Given the description of an element on the screen output the (x, y) to click on. 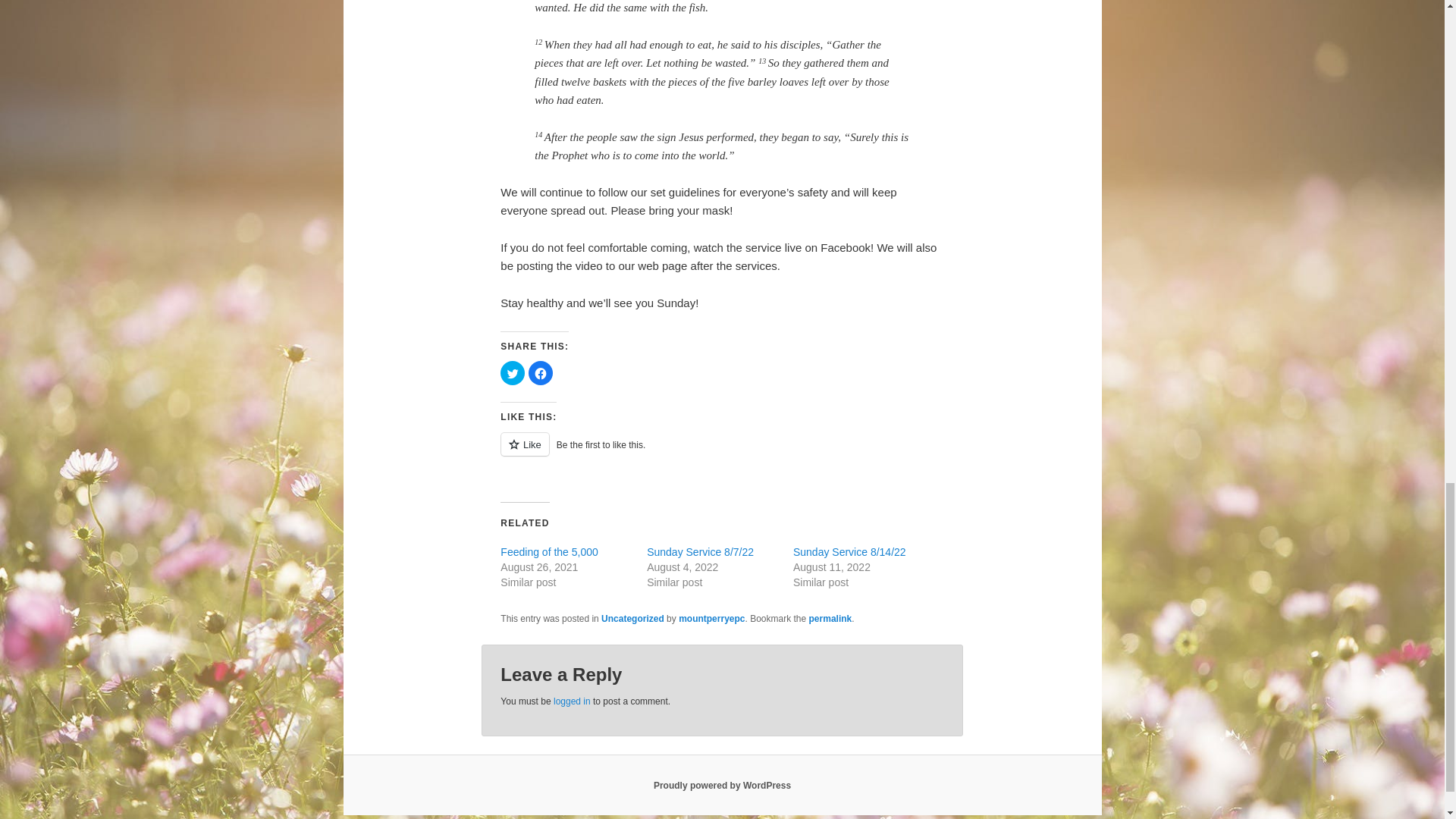
Semantic Personal Publishing Platform (721, 785)
Click to share on Twitter (512, 372)
Feeding of the 5,000 (548, 551)
permalink (830, 618)
Permalink to Feeding of the 5,000 (830, 618)
Click to share on Facebook (540, 372)
Uncategorized (632, 618)
logged in (572, 701)
Proudly powered by WordPress (721, 785)
Feeding of the 5,000 (548, 551)
